Given the description of an element on the screen output the (x, y) to click on. 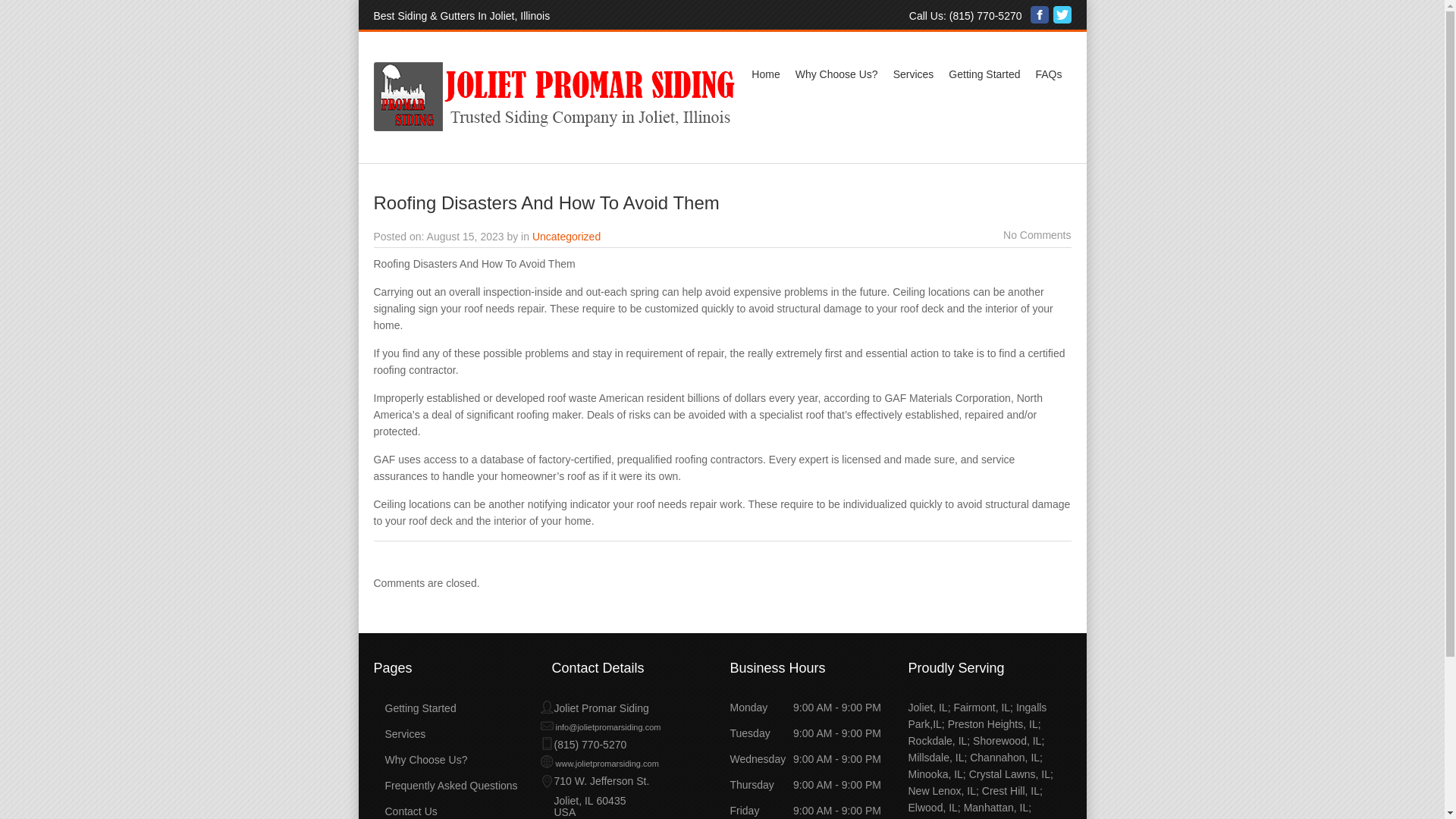
www.jolietpromarsiding.com (599, 763)
Home (765, 74)
Why Choose Us? (836, 74)
Uncategorized (565, 236)
Contact Us (404, 811)
Getting Started (413, 707)
Frequently Asked Questions (444, 785)
Why Choose Us? (419, 759)
FAQs (1048, 74)
Services (913, 74)
Services (398, 734)
Getting Started (984, 74)
